Given the description of an element on the screen output the (x, y) to click on. 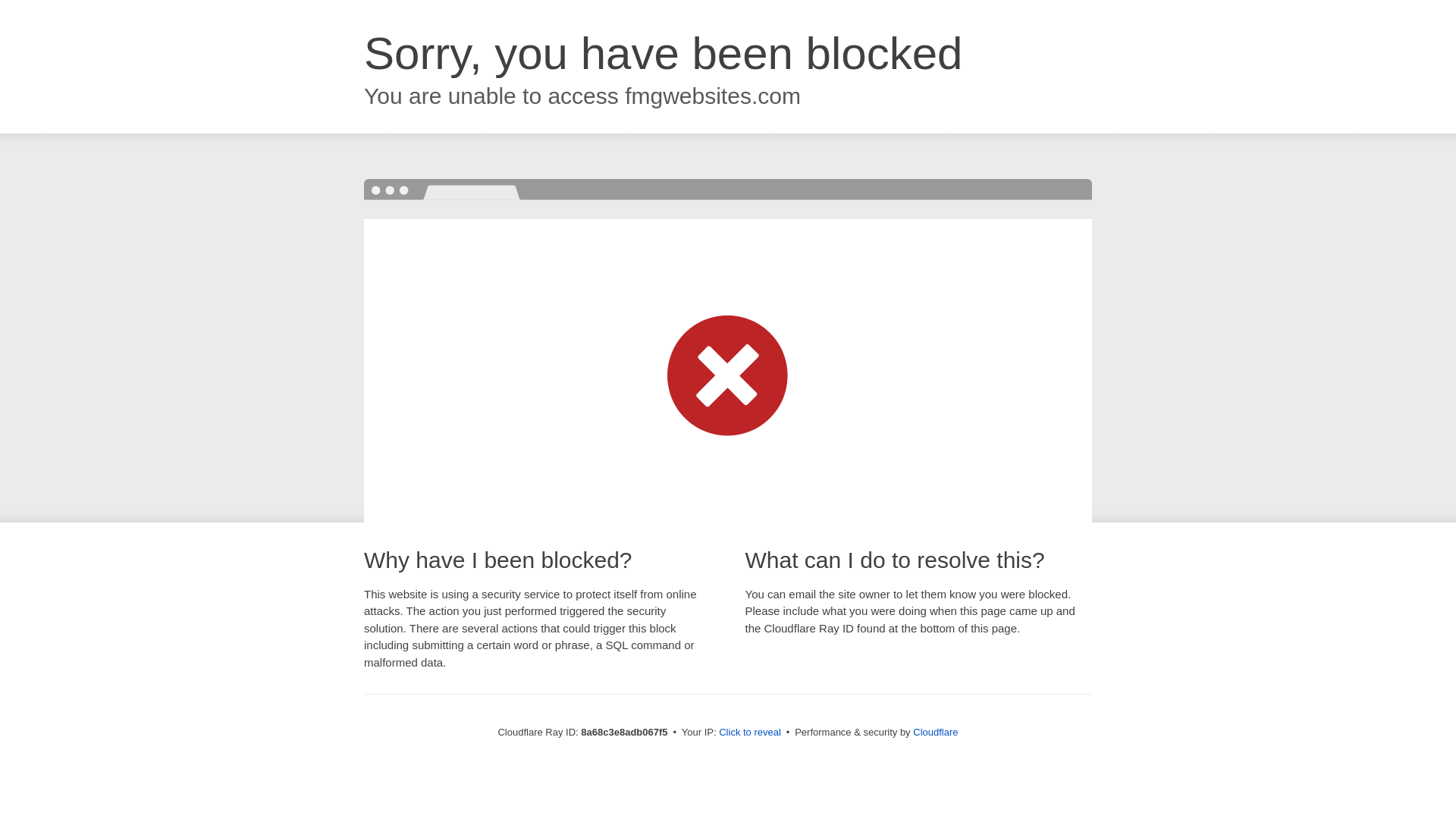
Cloudflare (935, 731)
Click to reveal (749, 732)
